Given the description of an element on the screen output the (x, y) to click on. 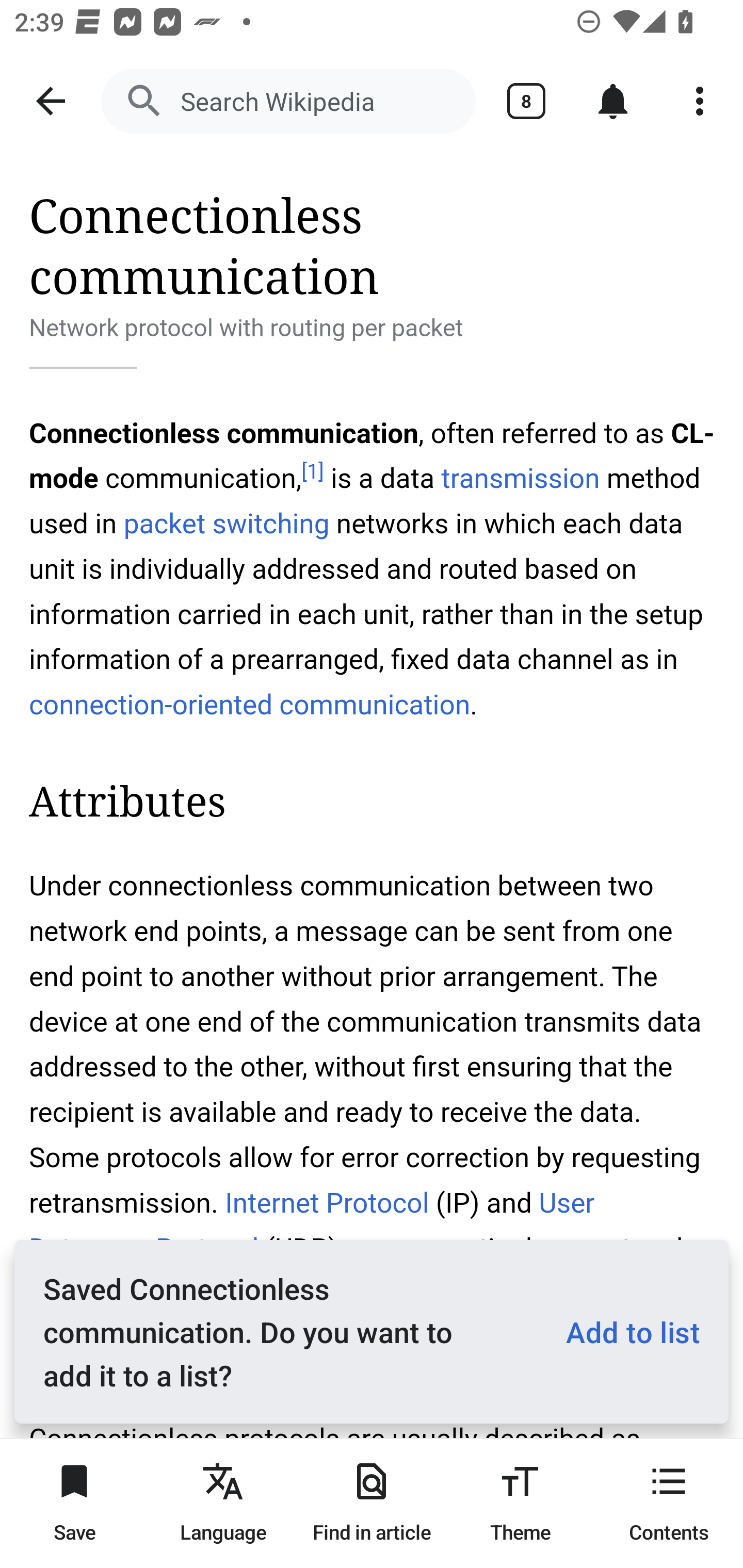
Show tabs 8 (525, 100)
Notifications (612, 100)
Navigate up (50, 101)
More options (699, 101)
Search Wikipedia (288, 100)
[] [ 1 ] (312, 471)
transmission (520, 478)
packet switching (225, 523)
connection-oriented communication (249, 704)
User Datagram Protocol (311, 1225)
Internet Protocol (326, 1202)
Add to list (625, 1331)
Save (74, 1502)
Language (222, 1502)
Find in article (371, 1502)
Theme (519, 1502)
Contents (668, 1502)
